Given the description of an element on the screen output the (x, y) to click on. 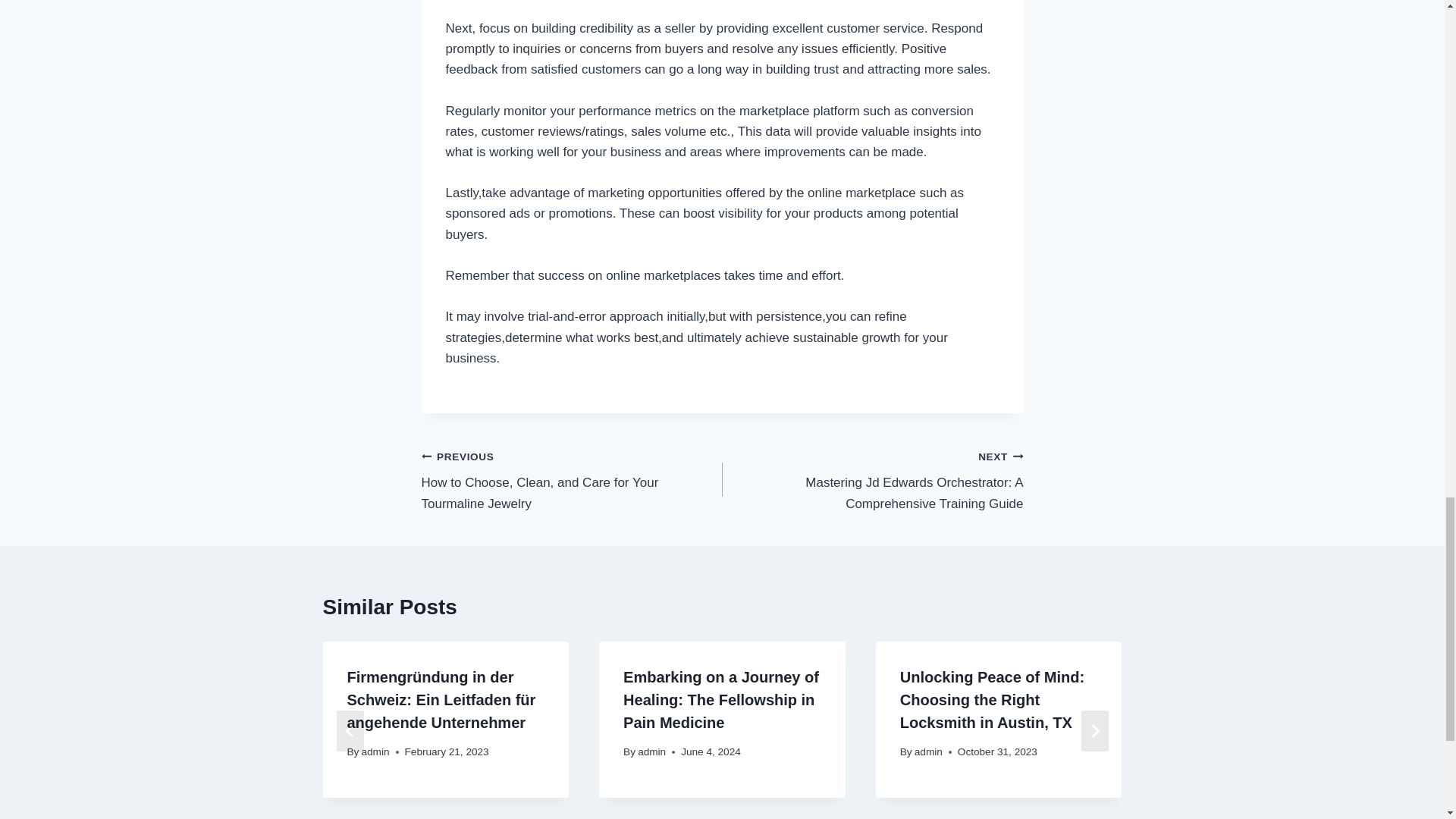
admin (375, 751)
